Given the description of an element on the screen output the (x, y) to click on. 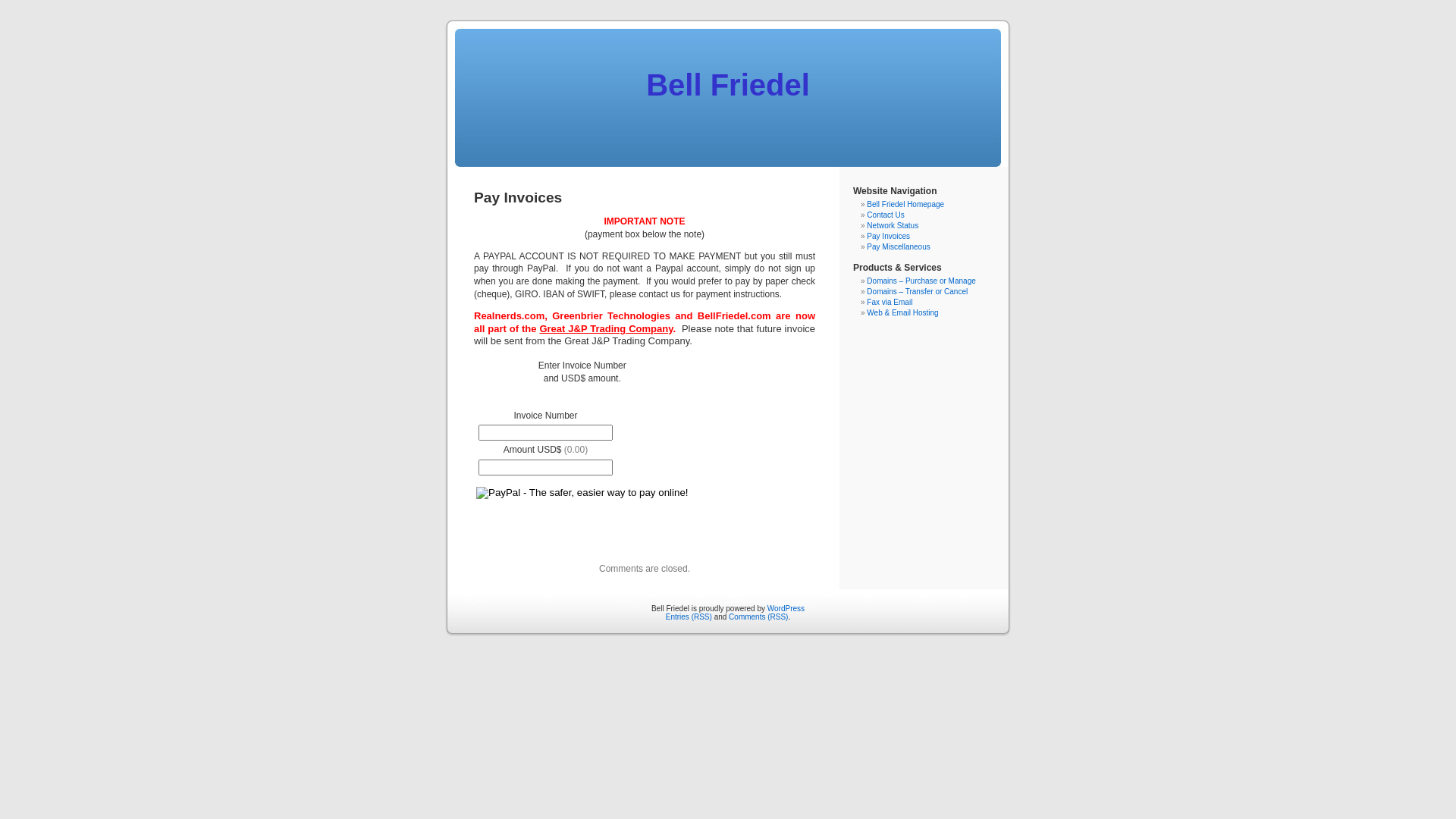
Network Status Element type: text (892, 225)
Bell Friedel Homepage Element type: text (905, 204)
Entries (RSS) Element type: text (688, 616)
Contact Us Element type: text (884, 214)
Bell Friedel Element type: text (727, 84)
Comments (RSS) Element type: text (757, 616)
Pay Invoices Element type: text (888, 236)
Fax via Email Element type: text (889, 302)
Pay Miscellaneous Element type: text (897, 246)
WordPress Element type: text (785, 608)
Web & Email Hosting Element type: text (902, 312)
